Given the description of an element on the screen output the (x, y) to click on. 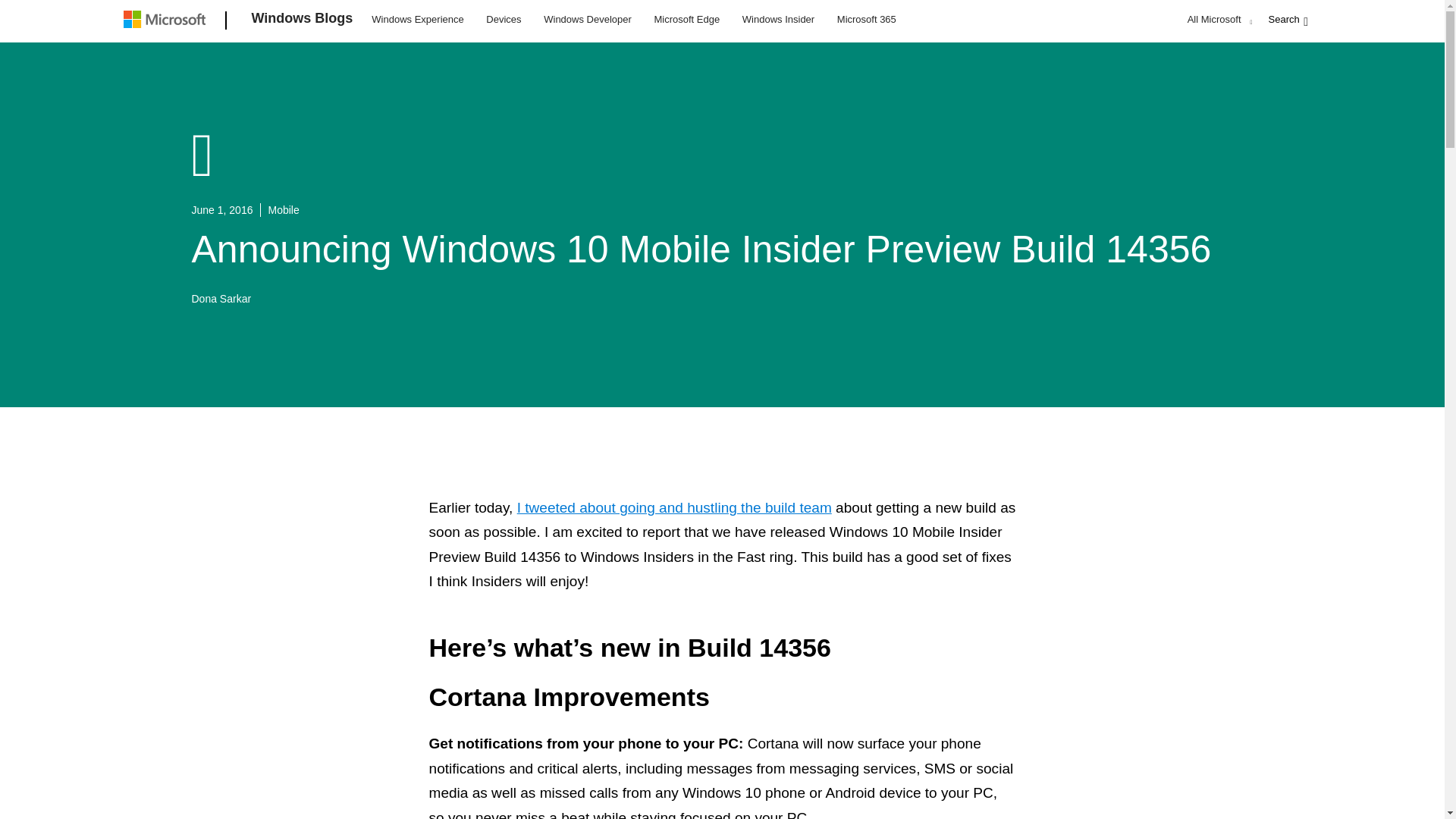
Windows Insider (778, 18)
All Microsoft (1217, 18)
Windows Blogs (302, 20)
Devices (503, 18)
Windows Experience (417, 18)
Microsoft 365 (865, 18)
Microsoft Edge (686, 18)
Windows Developer (588, 18)
Microsoft (167, 20)
